Given the description of an element on the screen output the (x, y) to click on. 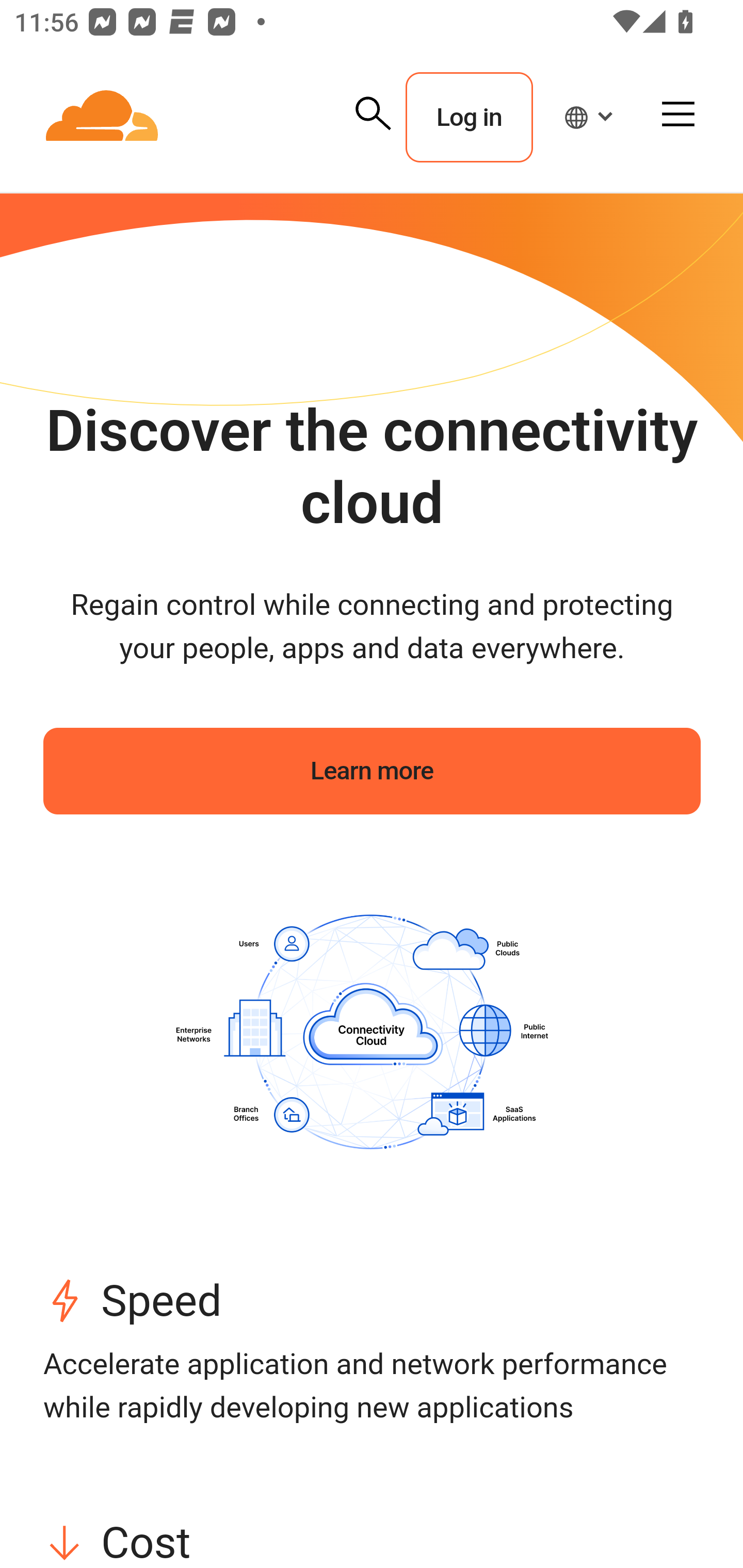
Log in (469, 117)
www.cloudflare (102, 117)
Learn more (372, 770)
